Given the description of an element on the screen output the (x, y) to click on. 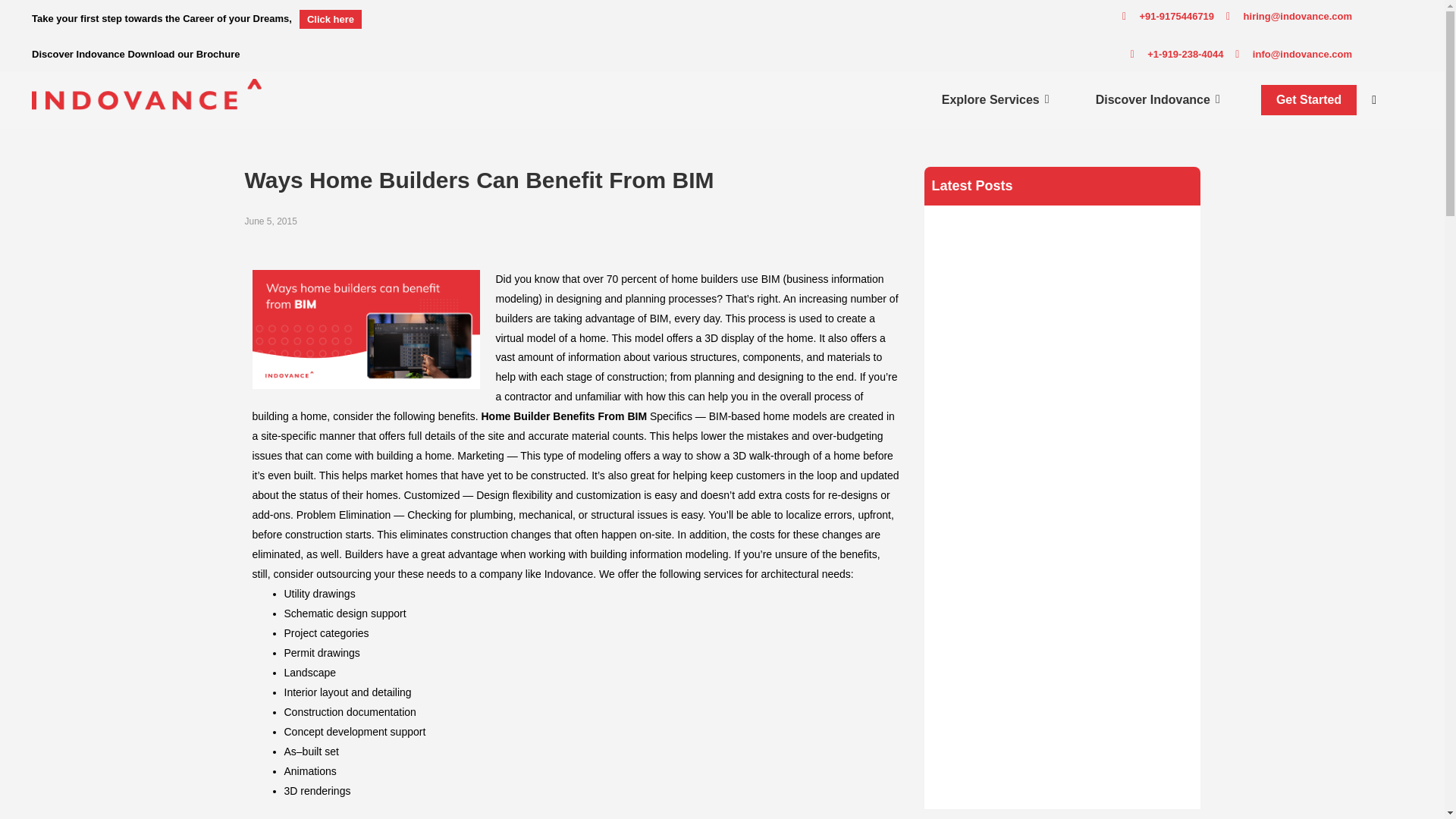
Explore Services (990, 99)
Brochure (218, 53)
Button Two (1308, 100)
Click here (330, 18)
